Given the description of an element on the screen output the (x, y) to click on. 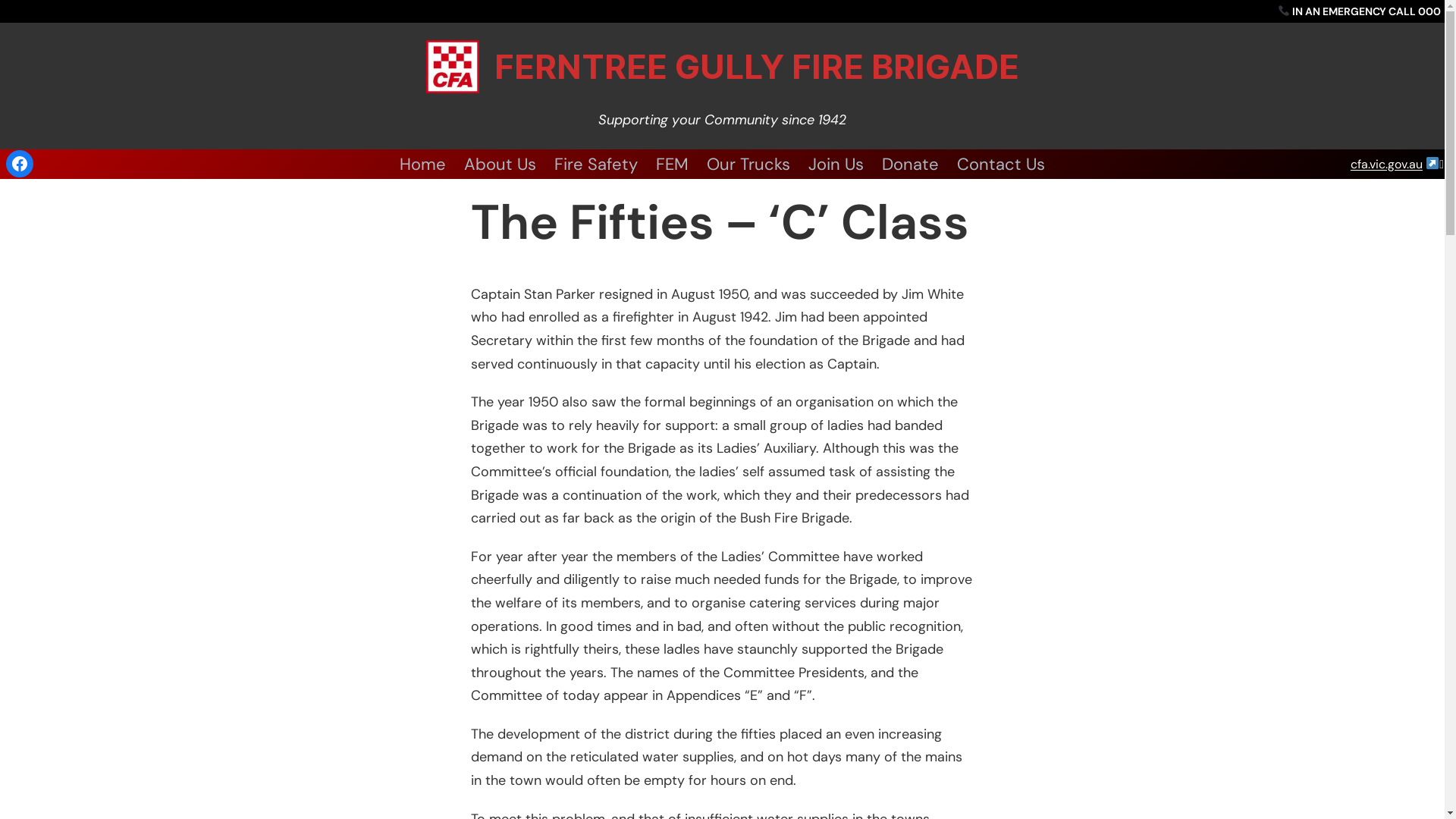
IN AN EMERGENCY CALL 000 Element type: text (1358, 11)
About Us Element type: text (500, 164)
Join Us Element type: text (835, 164)
Home Element type: text (422, 164)
FEM Element type: text (671, 164)
Donate Element type: text (909, 164)
Contact Us Element type: text (1000, 164)
Facebook Element type: text (19, 163)
Our Trucks Element type: text (748, 164)
cfa.vic.gov.au Element type: text (1386, 164)
Fire Safety Element type: text (595, 164)
